Given the description of an element on the screen output the (x, y) to click on. 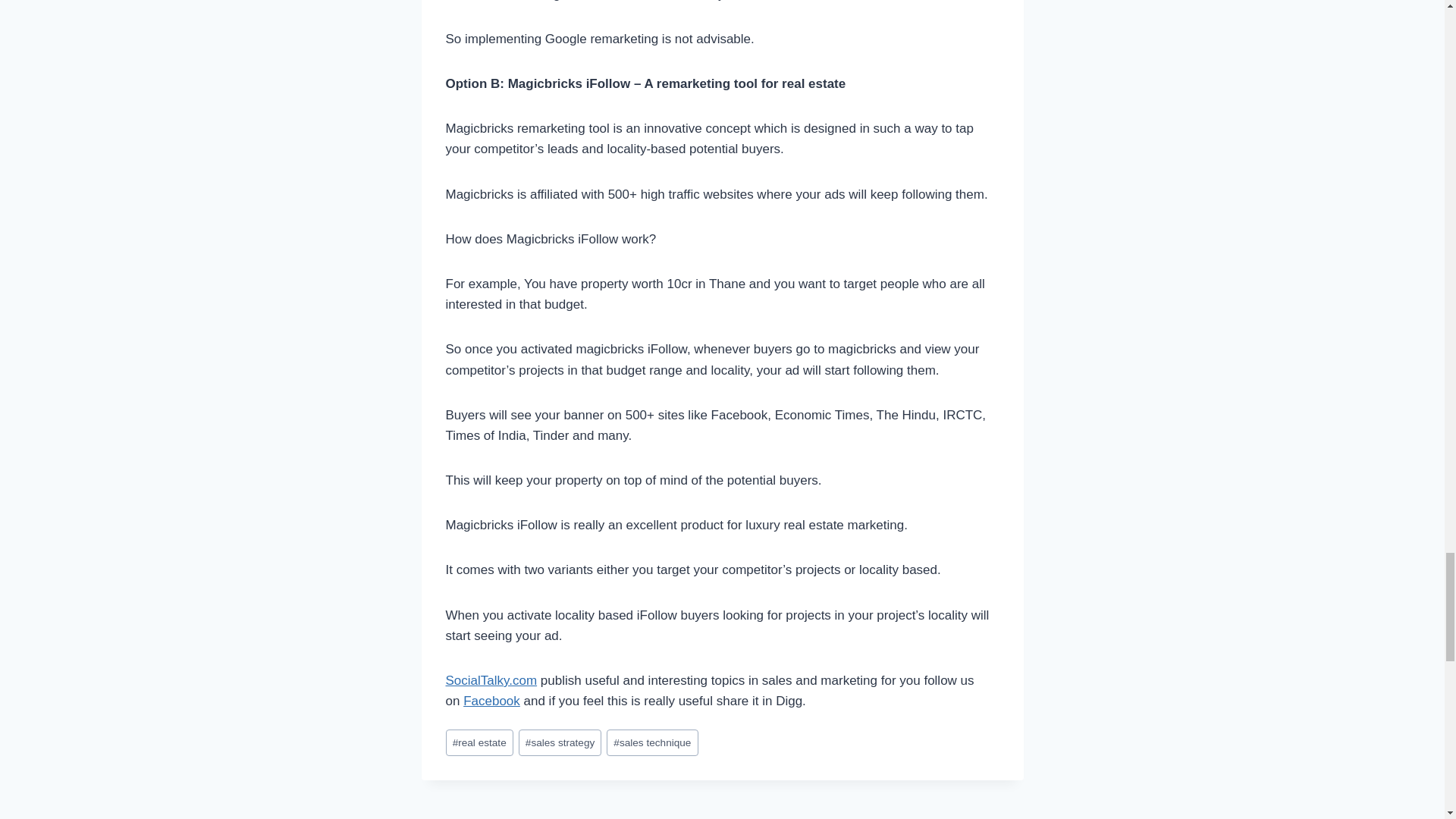
sales technique (652, 742)
real estate (479, 742)
Facebook (572, 815)
sales strategy (491, 700)
SocialTalky.com (560, 742)
